Given the description of an element on the screen output the (x, y) to click on. 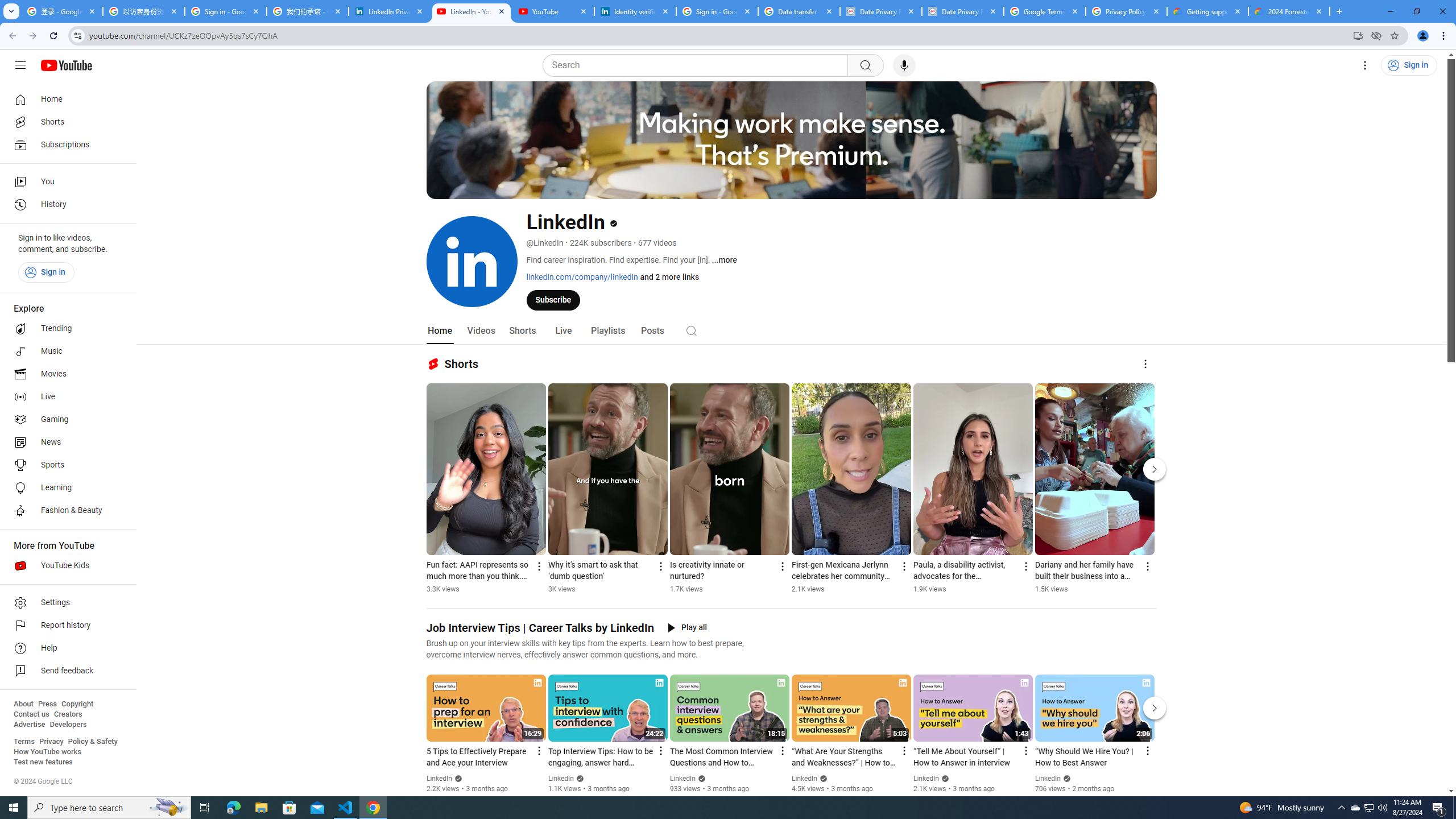
Trending (64, 328)
linkedin.com/company/linkedin (581, 276)
Identity verification via Persona | LinkedIn Help (635, 11)
News (64, 441)
Is creativity innate or nurtured? - play Short (722, 571)
Third-party cookies blocked (1376, 35)
Press (46, 703)
Learning (64, 487)
Sign in - Google Accounts (225, 11)
Home (64, 99)
Search (697, 65)
YouTube (552, 11)
Posts (652, 330)
